Given the description of an element on the screen output the (x, y) to click on. 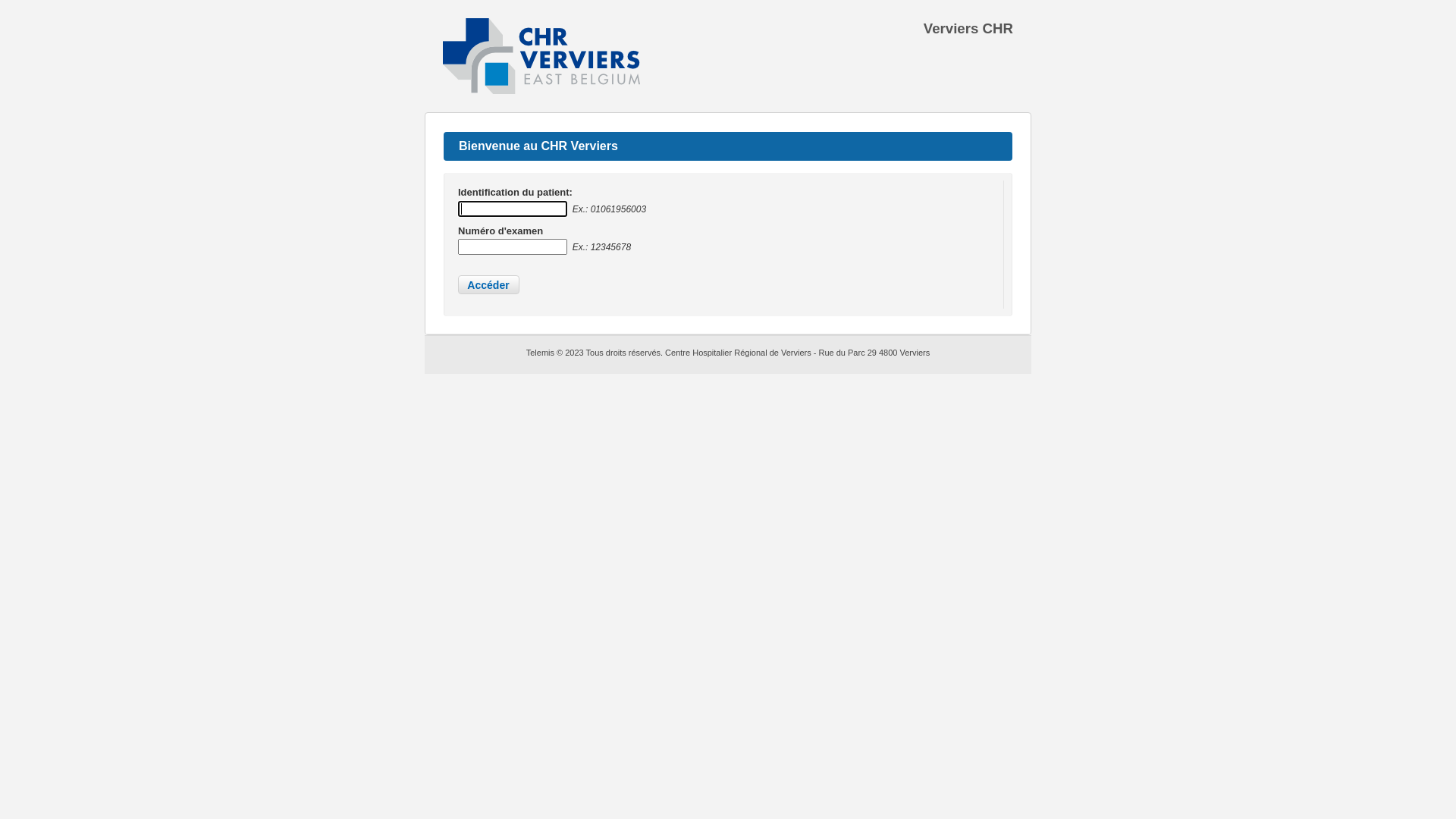
Telemis Element type: text (541, 352)
